Given the description of an element on the screen output the (x, y) to click on. 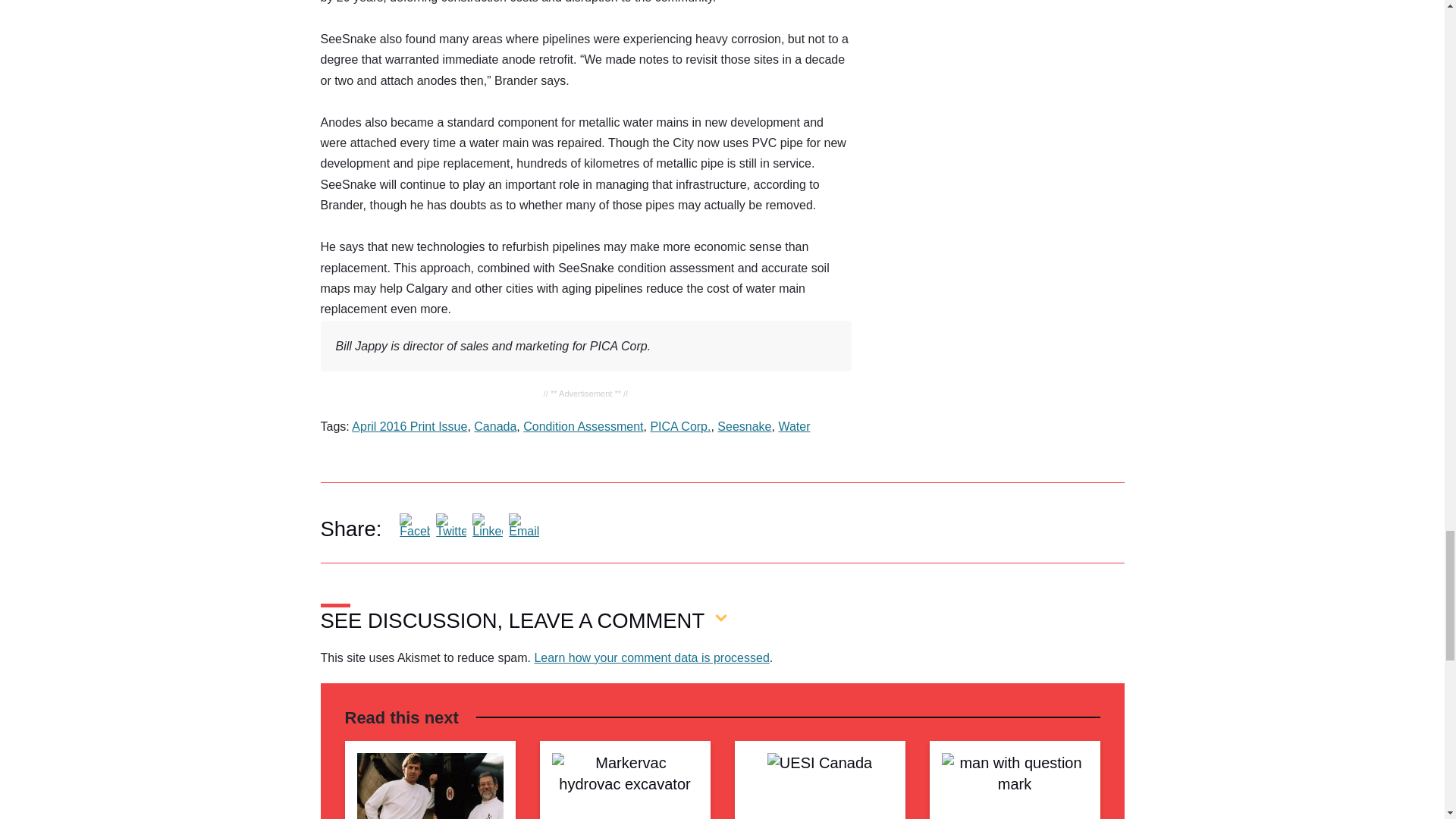
Facebook (414, 528)
Email (523, 528)
Twitter (450, 528)
LinkedIn (486, 528)
Trenchless Pioneers: John Mercer (429, 785)
